Given the description of an element on the screen output the (x, y) to click on. 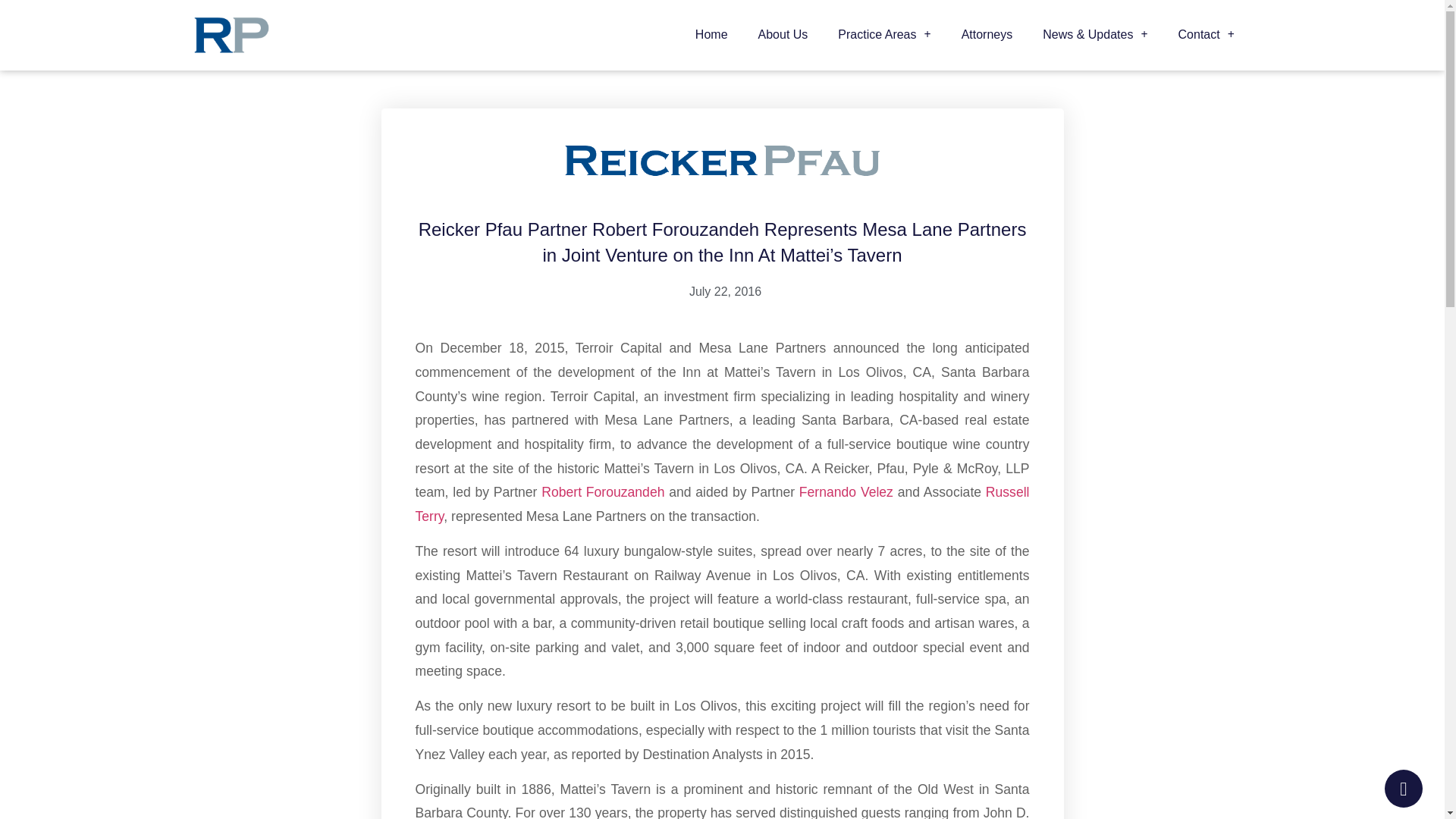
Contact (1206, 34)
About Us (783, 34)
Attorneys (986, 34)
Practice Areas (883, 34)
Home (710, 34)
